Given the description of an element on the screen output the (x, y) to click on. 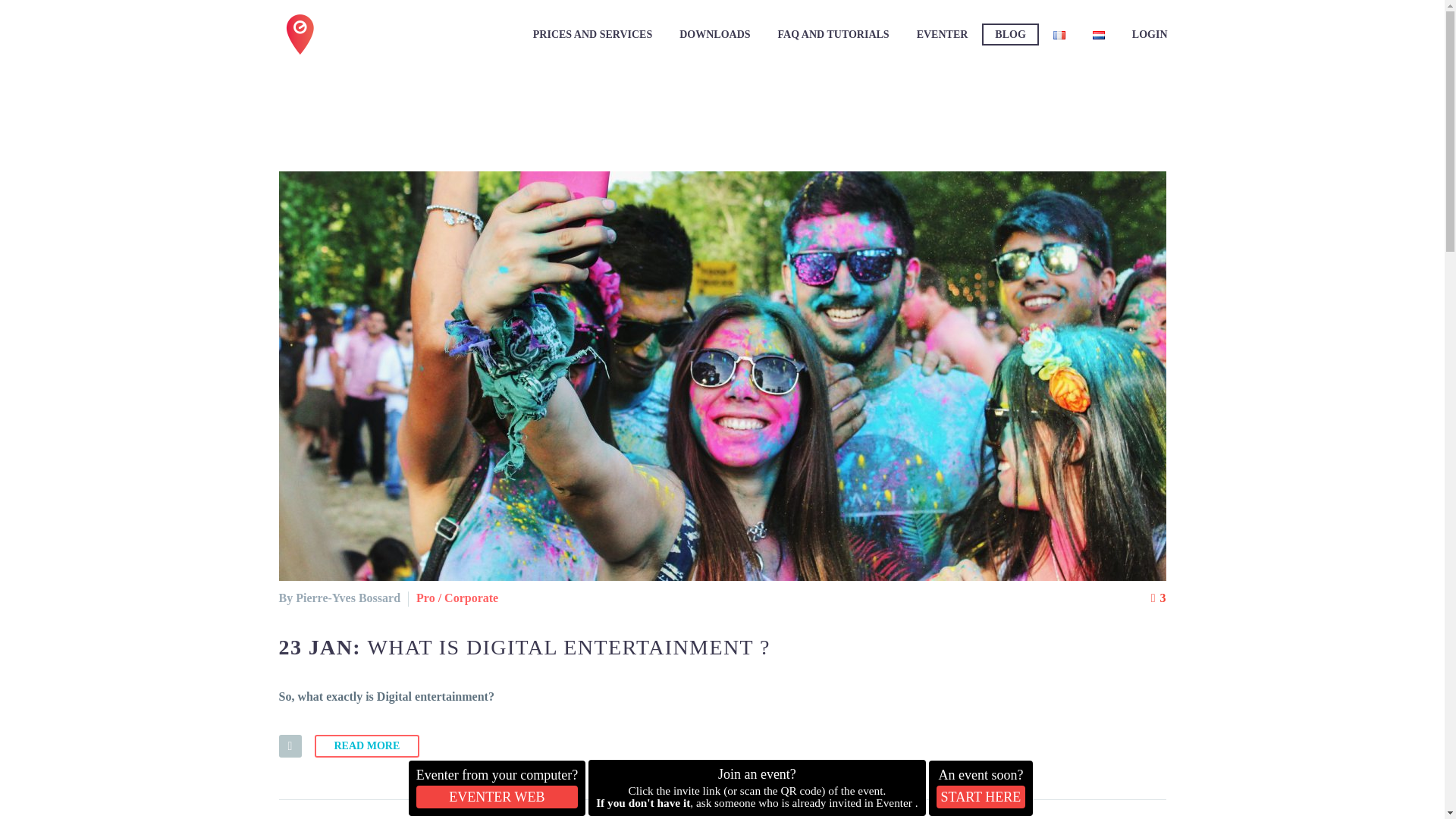
23 JAN: WHAT IS DIGITAL ENTERTAINMENT ? (524, 647)
FAQ AND TUTORIALS (834, 34)
PRICES AND SERVICES (592, 34)
BLOG (1009, 34)
DOWNLOADS (714, 34)
EVENTER (942, 34)
LOGIN (1150, 34)
